Given the description of an element on the screen output the (x, y) to click on. 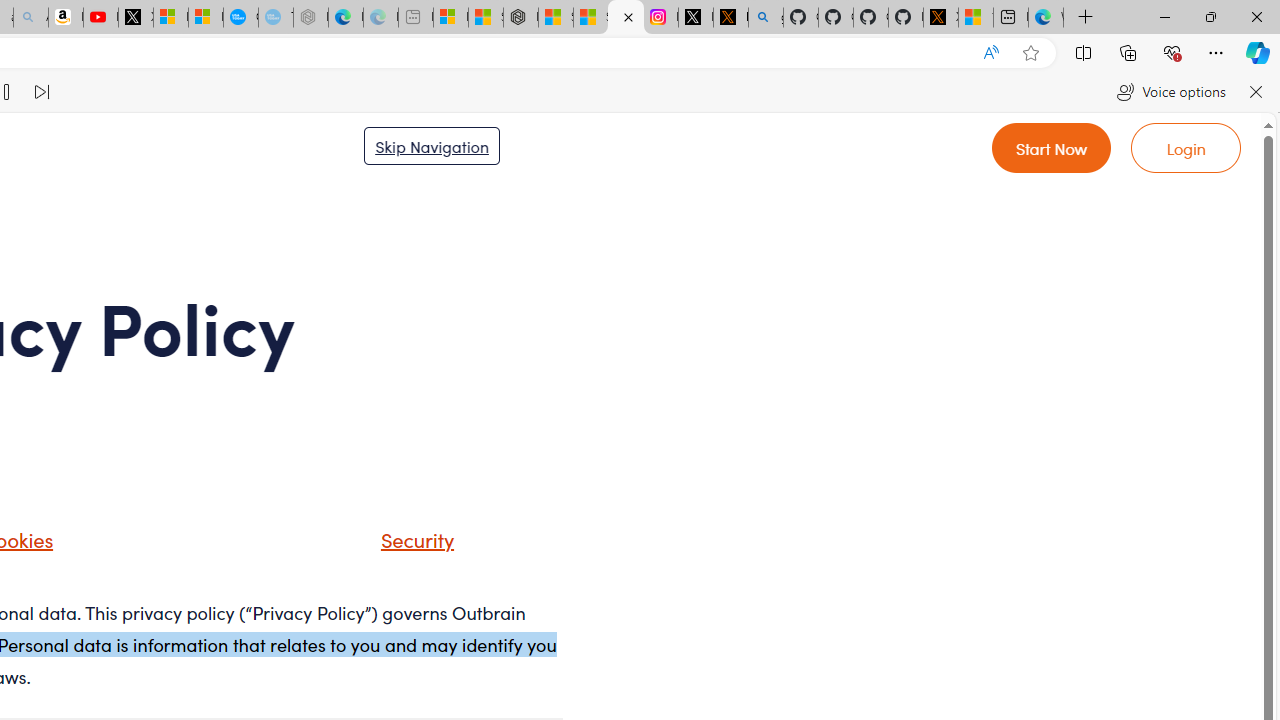
Nordace - Duffels (520, 17)
Security (411, 538)
Go to Register (1051, 147)
Welcome to Microsoft Edge (1046, 17)
